Given the description of an element on the screen output the (x, y) to click on. 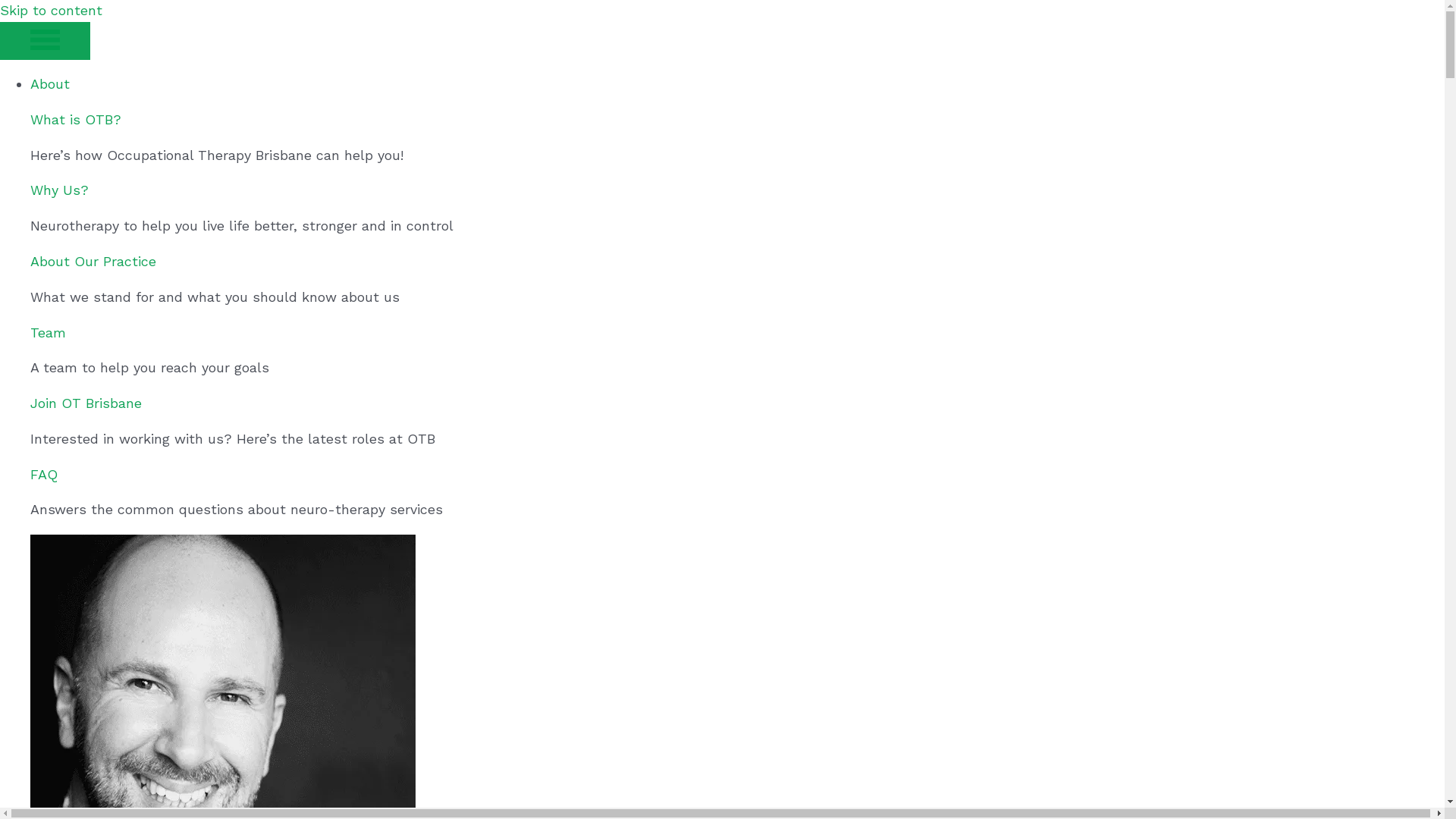
About Element type: text (49, 127)
Team Element type: text (47, 332)
Team Element type: text (47, 375)
Request An Appointment Element type: text (795, 597)
Skip to content Element type: text (51, 10)
INSPIRING STORIES Element type: text (1344, 711)
Why Us? Element type: text (59, 233)
About Our Practice Element type: text (93, 261)
FAQ Element type: text (43, 474)
About Element type: text (49, 83)
Join OT Brisbane Element type: text (85, 403)
Join OT Brisbane Element type: text (85, 447)
Why Us? Element type: text (59, 189)
FAQ Element type: text (43, 517)
What is OTB? Element type: text (75, 163)
What is OTB? Element type: text (75, 119)
About Our Practice Element type: text (93, 305)
